Given the description of an element on the screen output the (x, y) to click on. 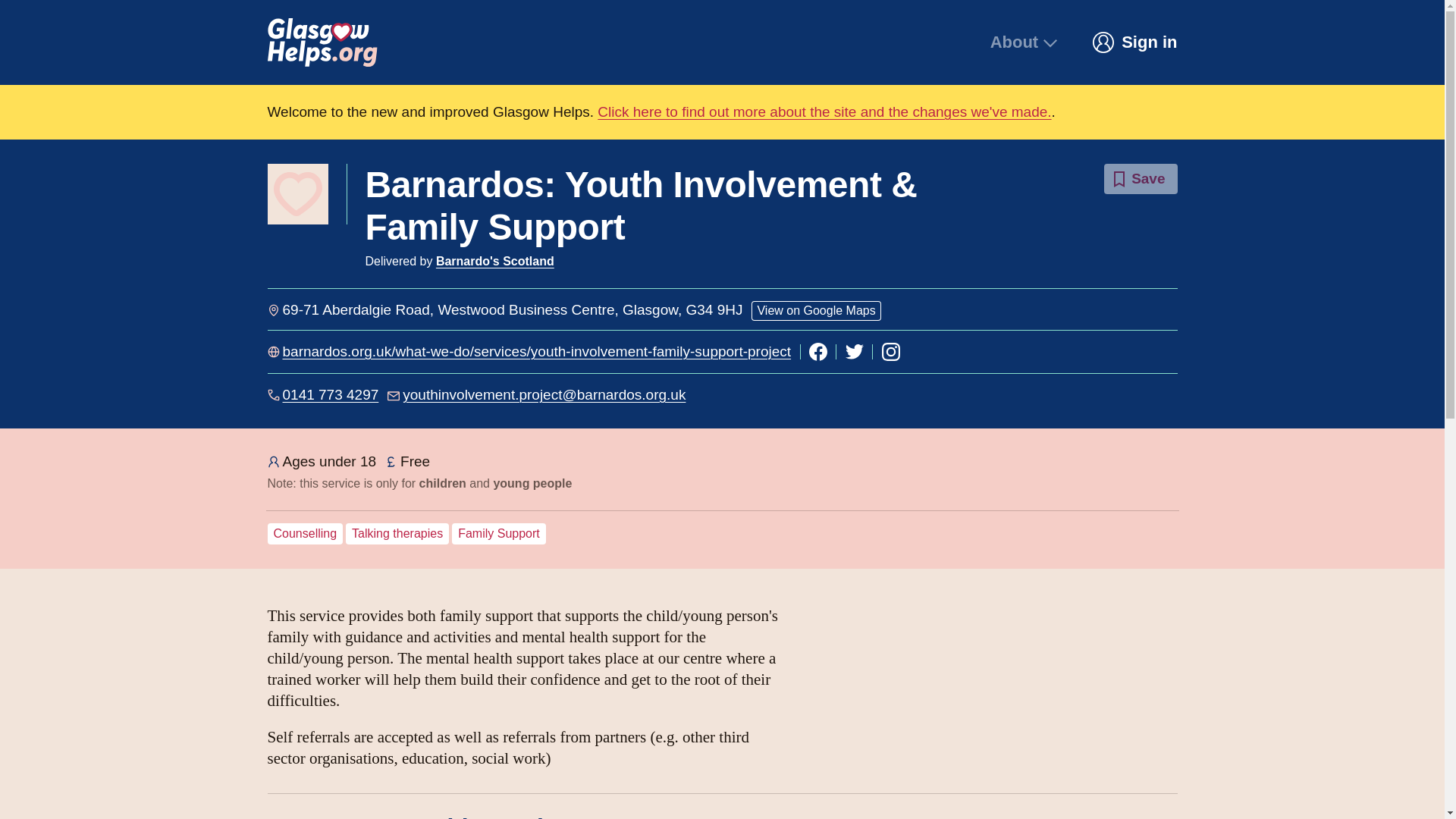
About (1024, 42)
Barnardo's Scotland (494, 260)
View on Google Maps (815, 311)
0141 773 4297 (330, 394)
Save (1139, 178)
Sign in (1134, 42)
